Given the description of an element on the screen output the (x, y) to click on. 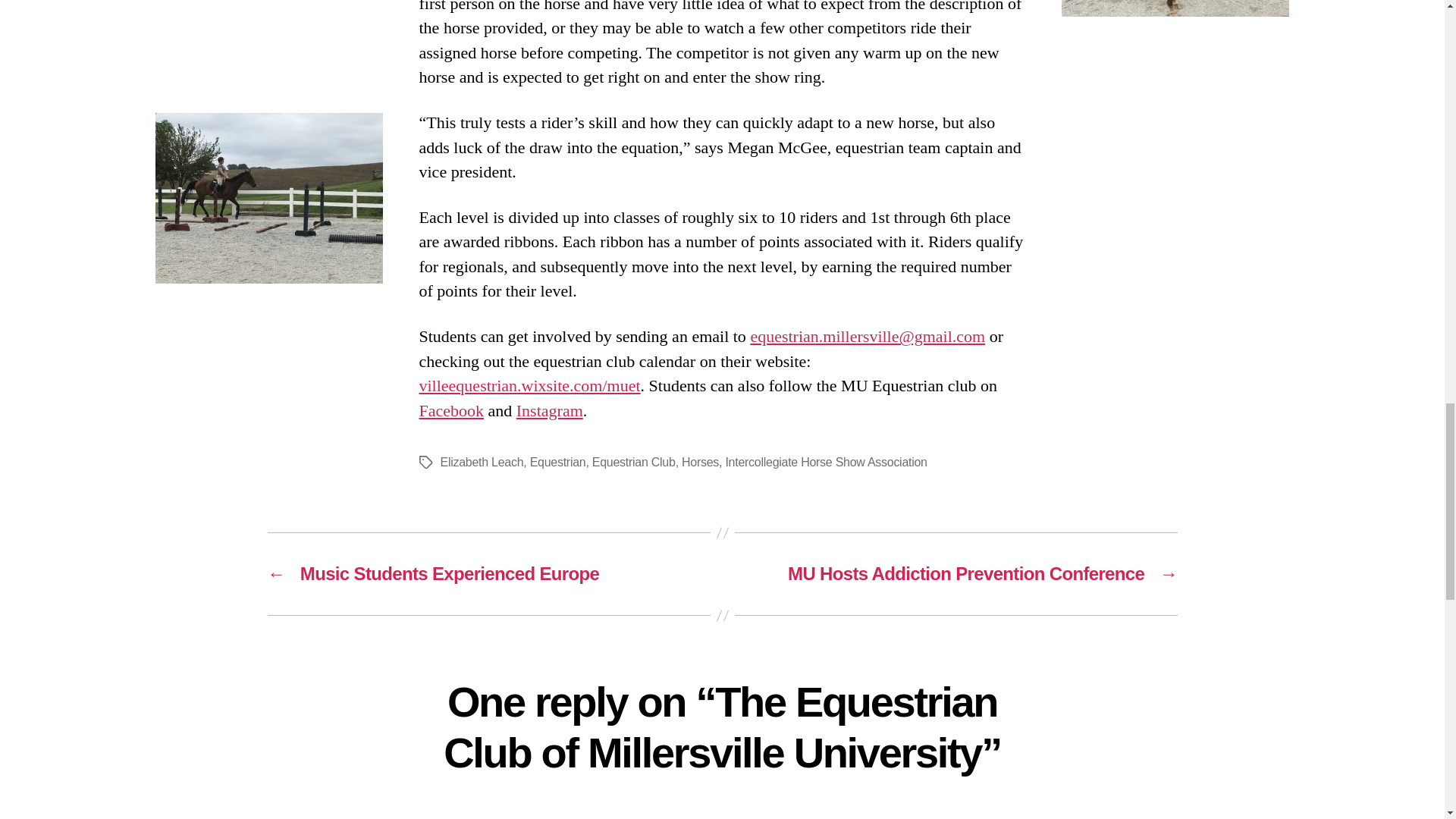
Facebook (451, 410)
Instagram (549, 410)
Horses (700, 461)
Equestrian (557, 461)
Elizabeth Leach (480, 461)
Equestrian Club (633, 461)
Intercollegiate Horse Show Association (825, 461)
